Given the description of an element on the screen output the (x, y) to click on. 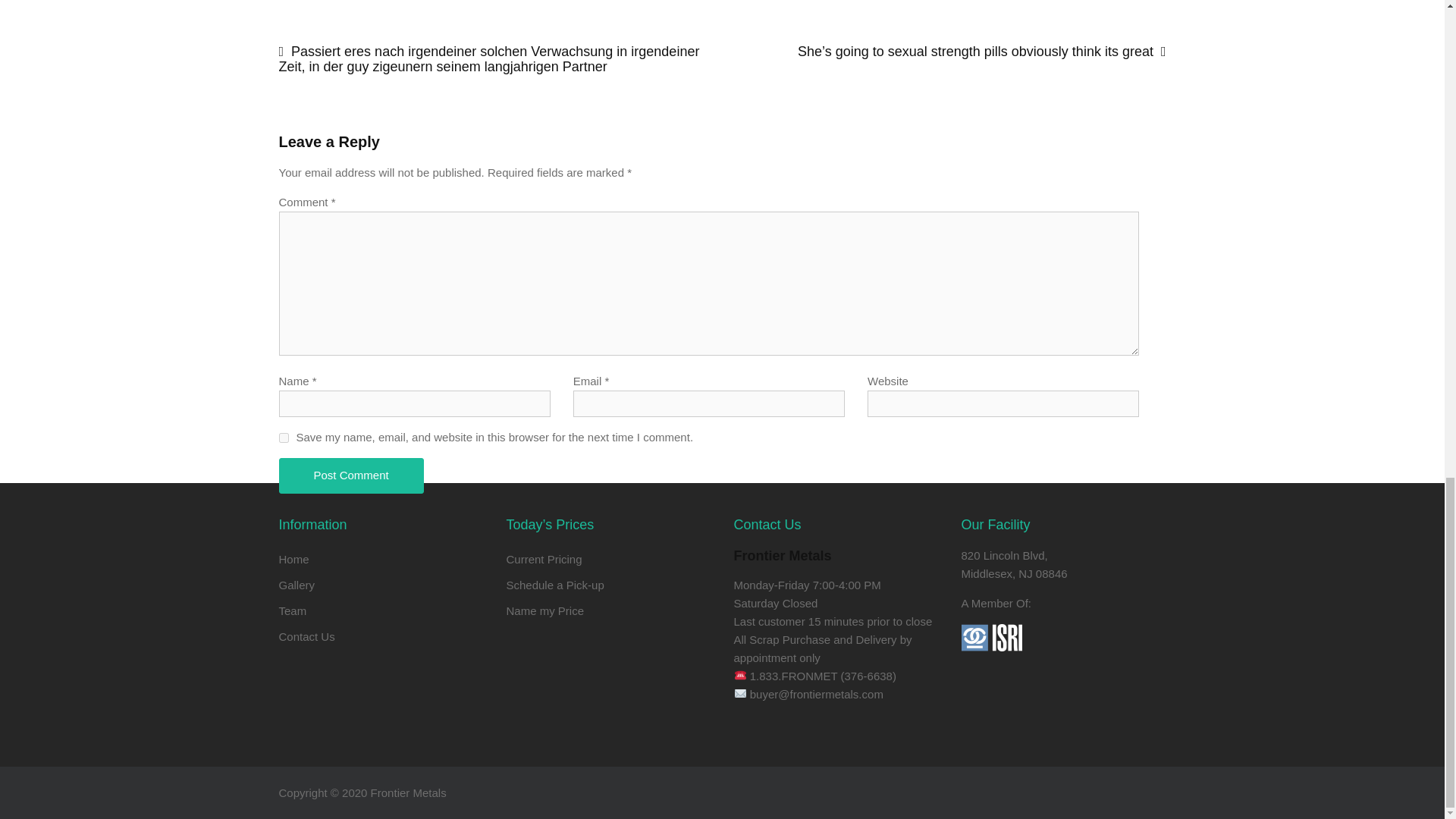
yes (283, 438)
Team (293, 610)
Schedule a Pick-up (555, 584)
Post Comment (351, 475)
Current Pricing (544, 558)
Home (293, 558)
Post Comment (351, 475)
Contact Us (306, 635)
Gallery (297, 584)
